Given the description of an element on the screen output the (x, y) to click on. 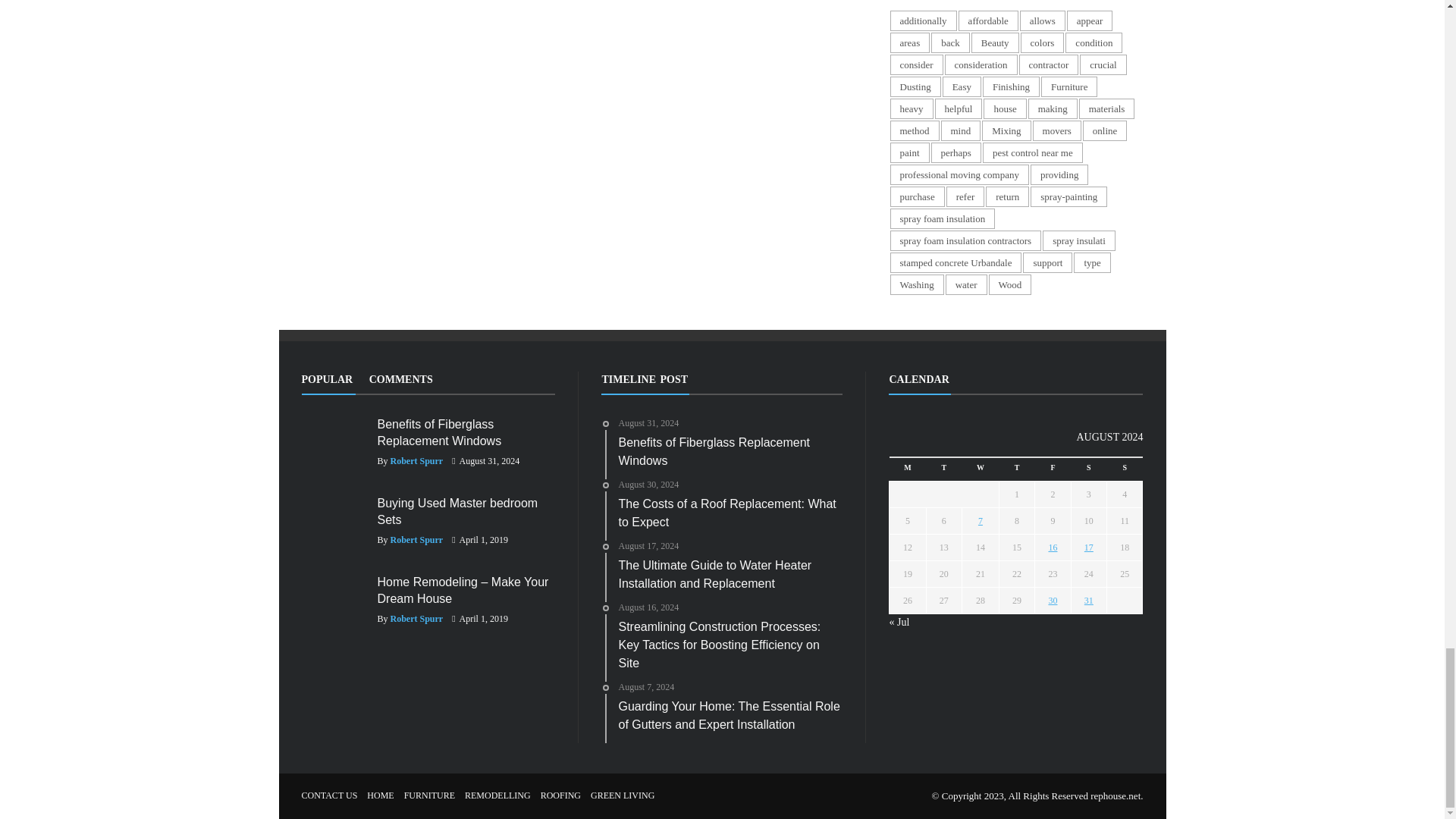
Tuesday (943, 469)
Saturday (1088, 469)
Friday (1052, 469)
Monday (907, 469)
Wednesday (979, 469)
Thursday (1015, 469)
Sunday (1124, 469)
